Given the description of an element on the screen output the (x, y) to click on. 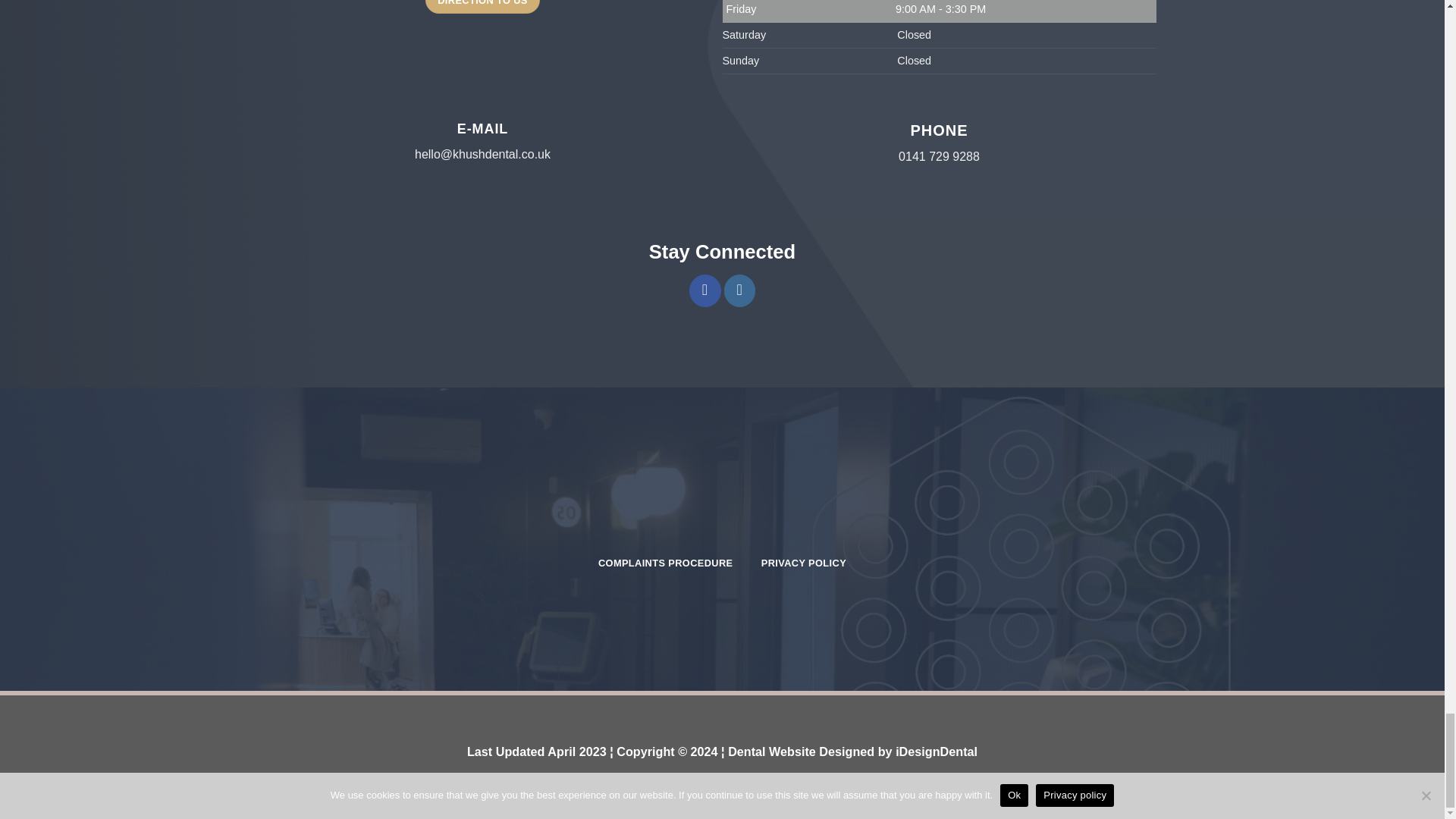
Follow on Facebook (704, 290)
Follow on Instagram (739, 290)
